Given the description of an element on the screen output the (x, y) to click on. 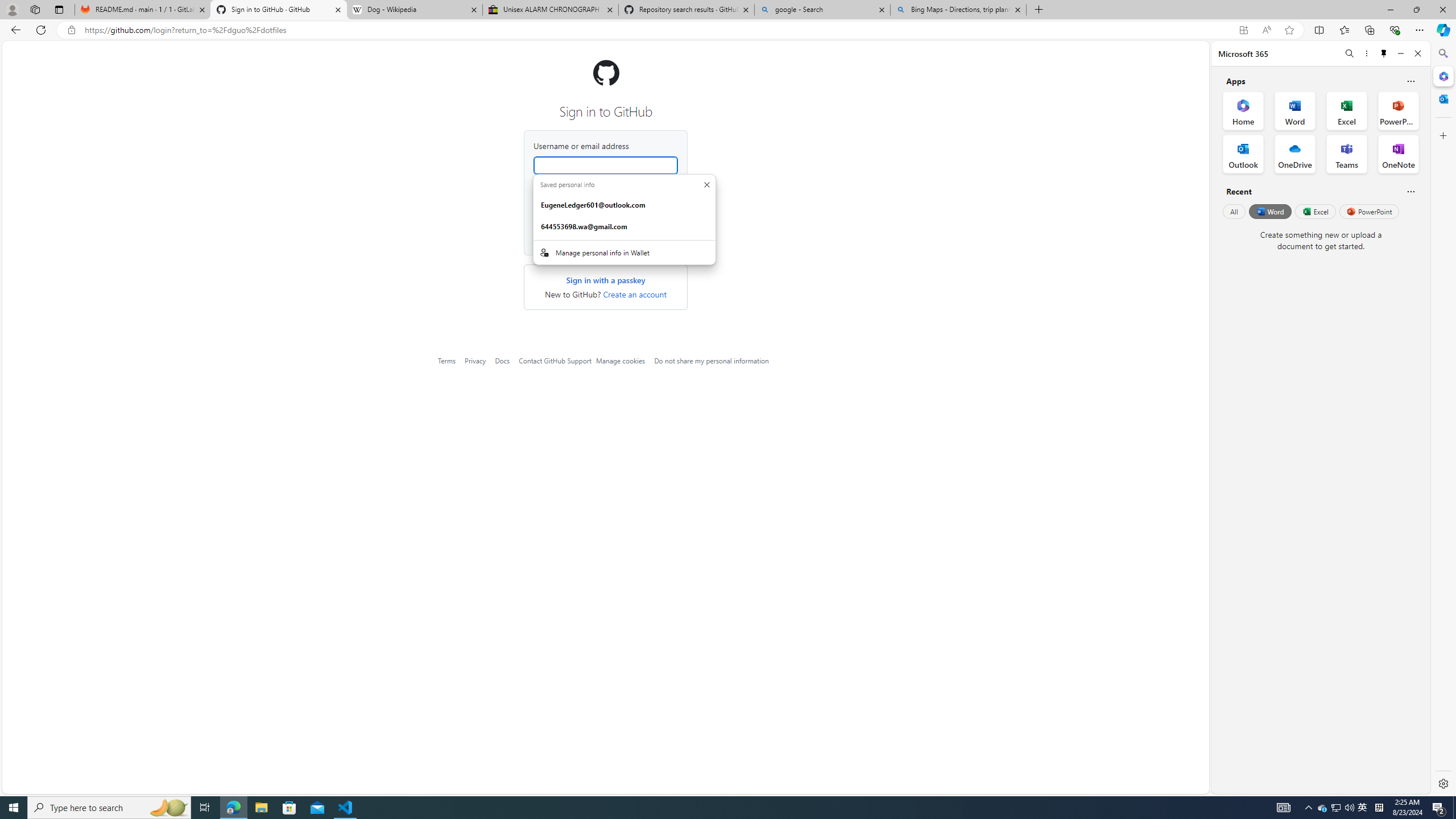
Username or email address (605, 165)
644553698.wa@gmail.com. :Basic info suggestion. (624, 226)
PowerPoint (1369, 210)
OneNote Office App (1398, 154)
OneDrive Office App (1295, 154)
Outlook Office App (1243, 154)
Side bar (1443, 418)
App available. Install GitHub (1243, 29)
Search (1442, 53)
Sign in with a passkey (605, 279)
google - Search (822, 9)
PowerPoint Office App (1398, 110)
